Given the description of an element on the screen output the (x, y) to click on. 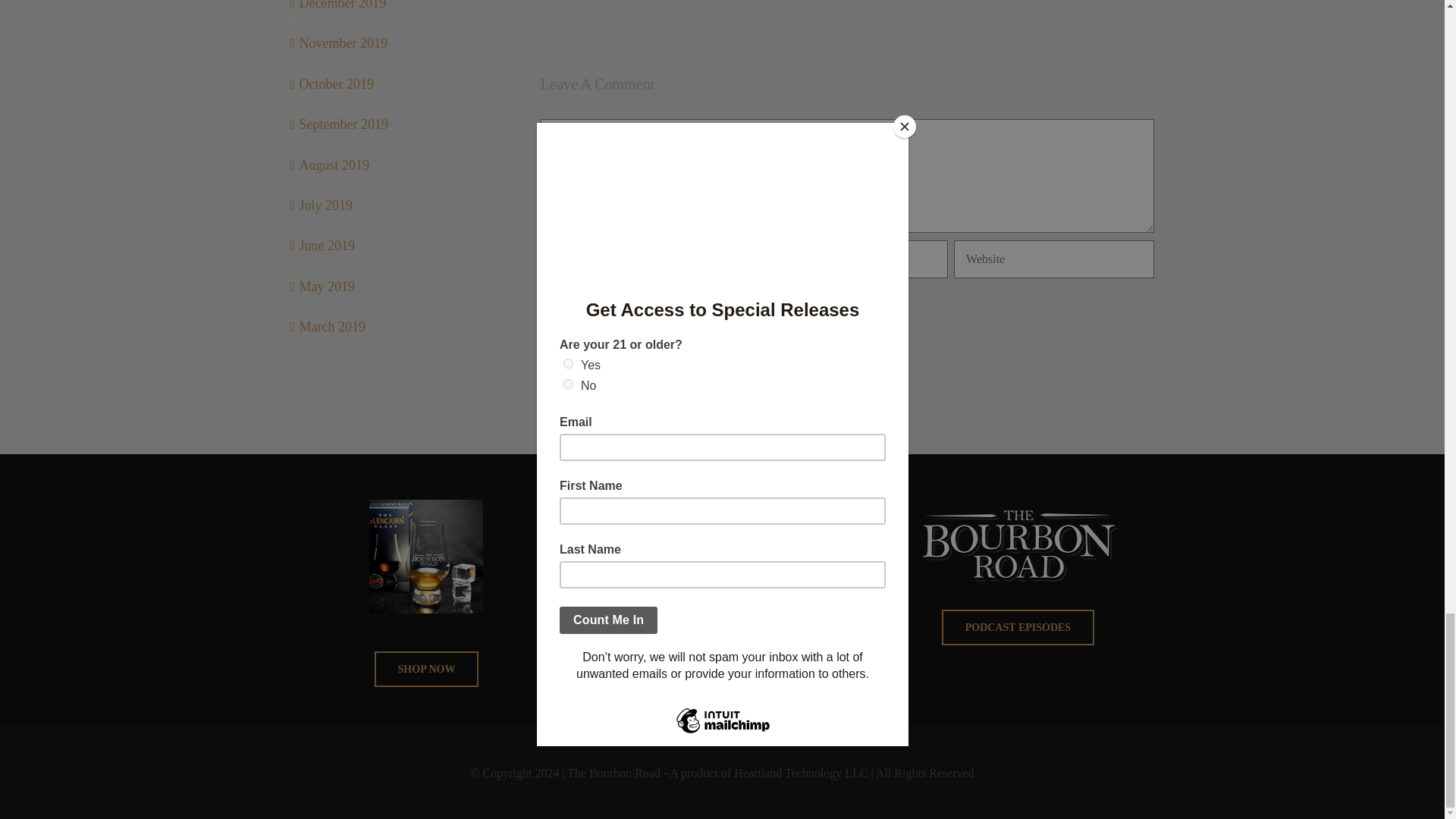
Post Comment (607, 349)
1 (629, 306)
Post Comment (607, 349)
